Given the description of an element on the screen output the (x, y) to click on. 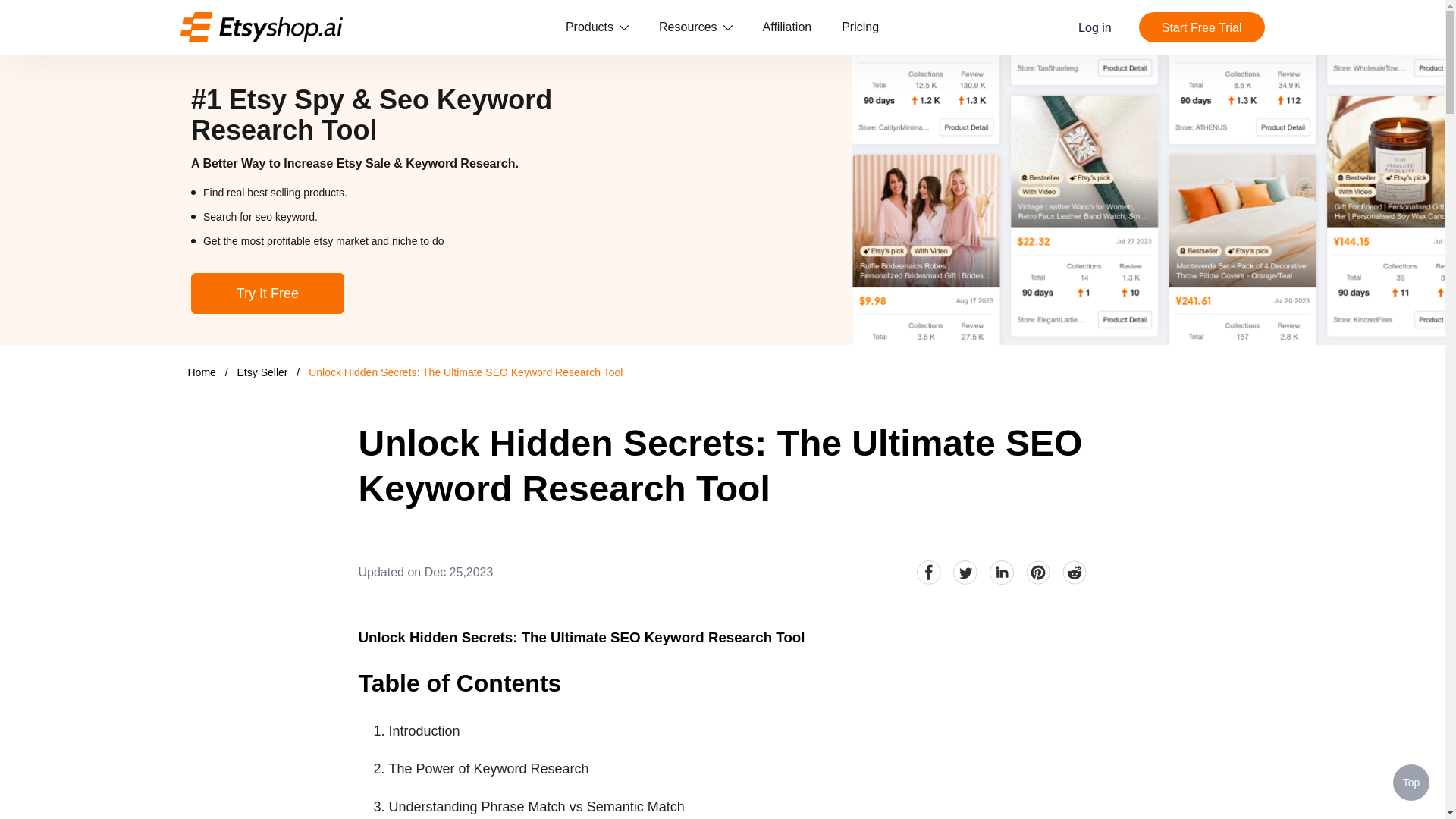
Affiliation (787, 26)
pinterest (1037, 572)
Start Free Trial (1201, 27)
Etsy Seller (264, 372)
linkedin (1000, 572)
facebook (927, 572)
Twitter (964, 572)
Log in (1094, 27)
Pricing (860, 26)
reddit (1073, 572)
Try It Free (266, 292)
Home (201, 372)
